Given the description of an element on the screen output the (x, y) to click on. 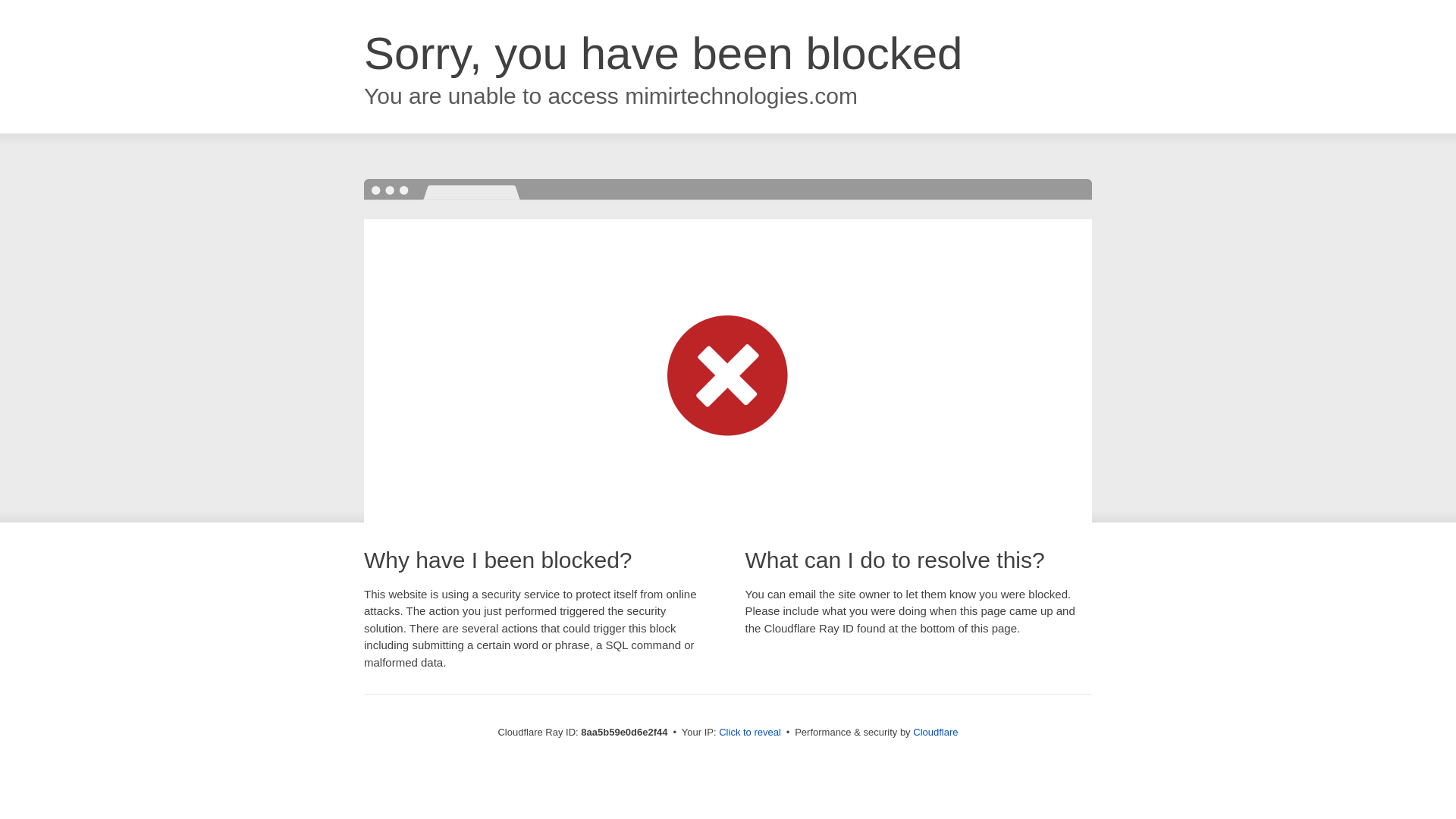
Click to reveal (749, 732)
Cloudflare (935, 731)
